Given the description of an element on the screen output the (x, y) to click on. 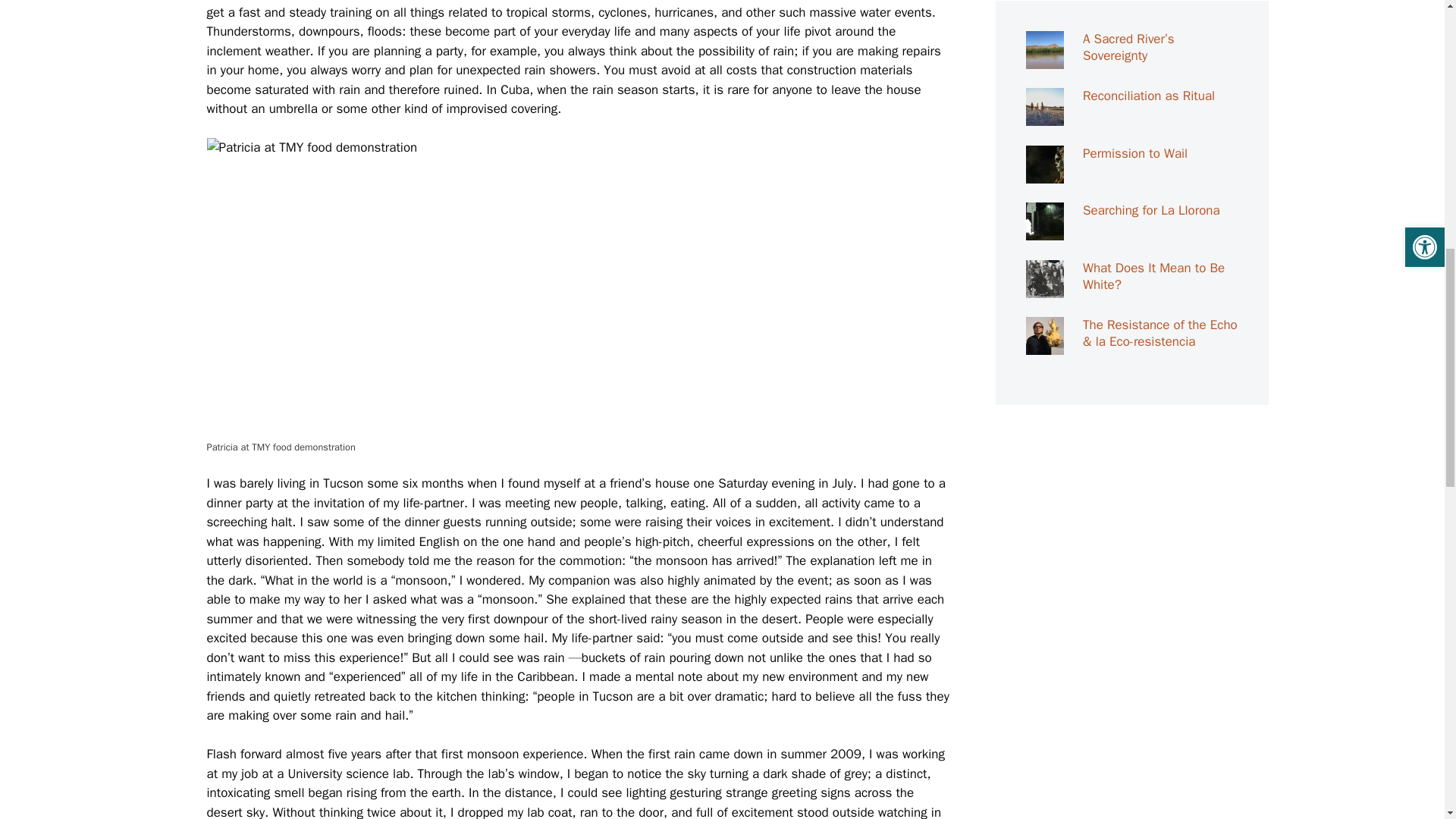
What Does It Mean to Be White? (1043, 287)
Permission to Wail (1043, 172)
Searching for La Llorona (1043, 230)
Searching for La Llorona (1151, 210)
Reconciliation as Ritual  (1150, 95)
Permission to Wail (1135, 153)
